Given the description of an element on the screen output the (x, y) to click on. 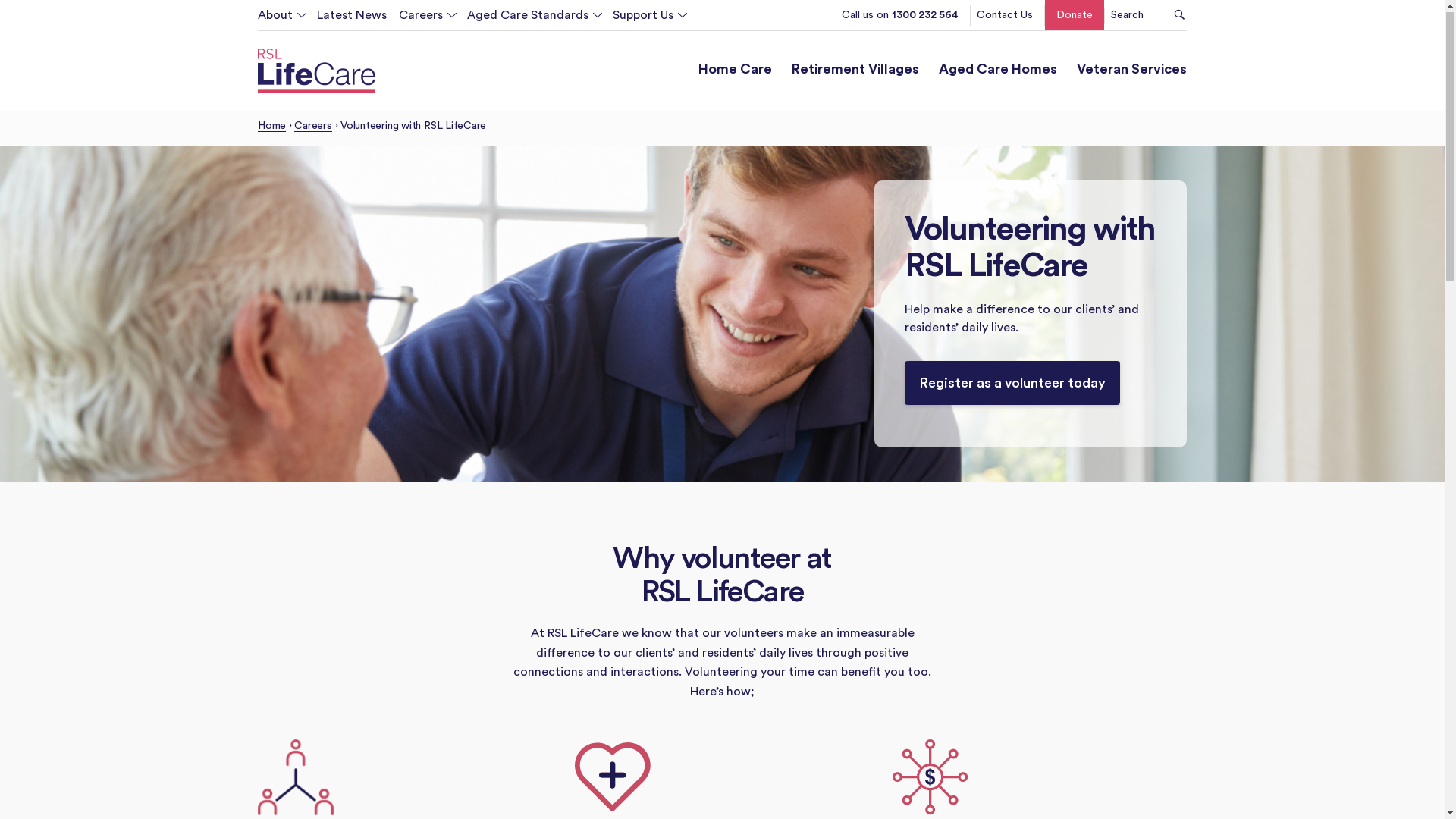
Careers Element type: text (312, 129)
Contact Us Element type: text (1004, 18)
RSL LifeCare Story Element type: text (374, 48)
Aged Care Homes Element type: text (997, 74)
Retirement Villages Element type: text (855, 74)
Donate Element type: text (1074, 18)
Donate Element type: text (716, 48)
Call us on 1300 232 564 Element type: text (899, 18)
Aged Care Standards Element type: text (527, 18)
Support Us Element type: text (642, 18)
Positions available Element type: text (502, 48)
Home Element type: text (271, 129)
Register as a volunteer today Element type: text (1012, 385)
Careers Element type: text (420, 18)
Veteran Services Element type: text (1131, 74)
Aged Care Quality Standards Element type: text (571, 48)
About Element type: text (280, 18)
Home Care Element type: text (734, 74)
Latest News Element type: text (345, 18)
